Given the description of an element on the screen output the (x, y) to click on. 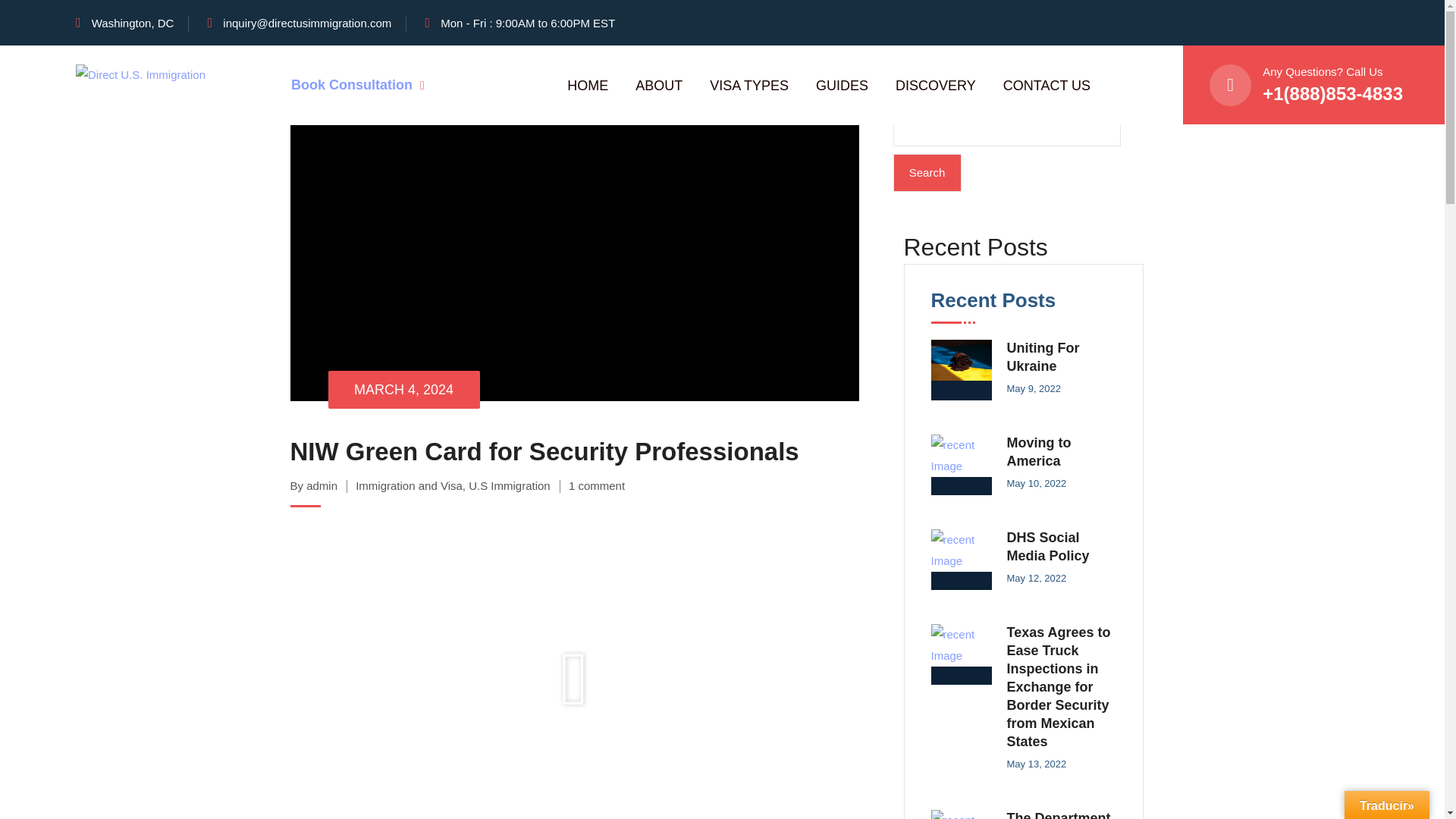
ABOUT (658, 85)
GUIDES (841, 85)
VISA TYPES (749, 85)
DISCOVERY (935, 85)
Book Consultation (357, 84)
HOME (587, 85)
CONTACT US (1046, 85)
